Given the description of an element on the screen output the (x, y) to click on. 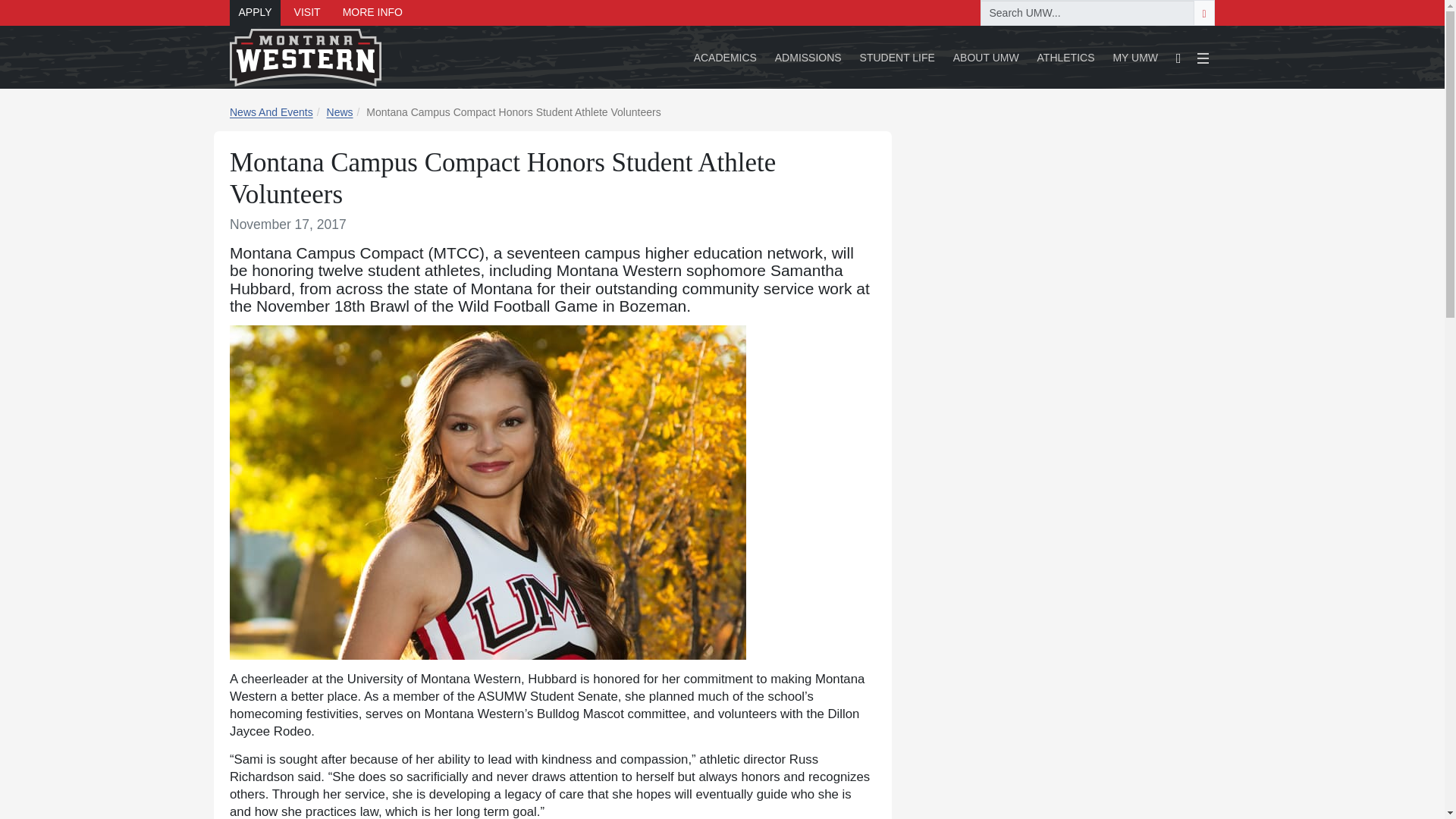
MORE INFO (371, 12)
APPLY (255, 12)
VISIT (307, 12)
